Given the description of an element on the screen output the (x, y) to click on. 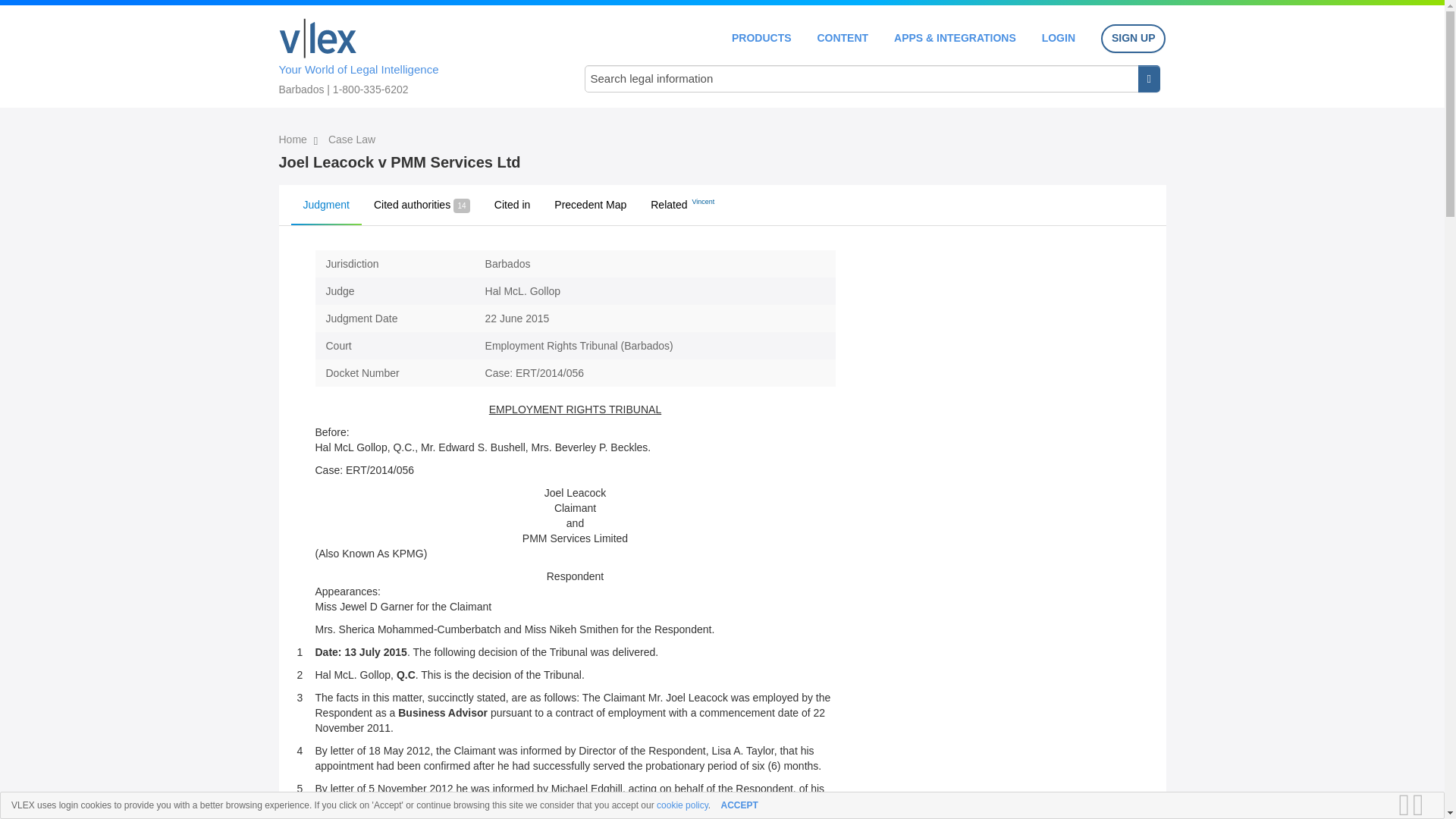
SIGN UP (1133, 38)
Home (317, 38)
Your World of Legal Intelligence (416, 53)
cookie policy (681, 805)
CLOSE (1422, 805)
Case Law (352, 139)
ACCEPT (739, 805)
Home (294, 139)
LOGIN (1058, 37)
CONTENT (841, 37)
